Given the description of an element on the screen output the (x, y) to click on. 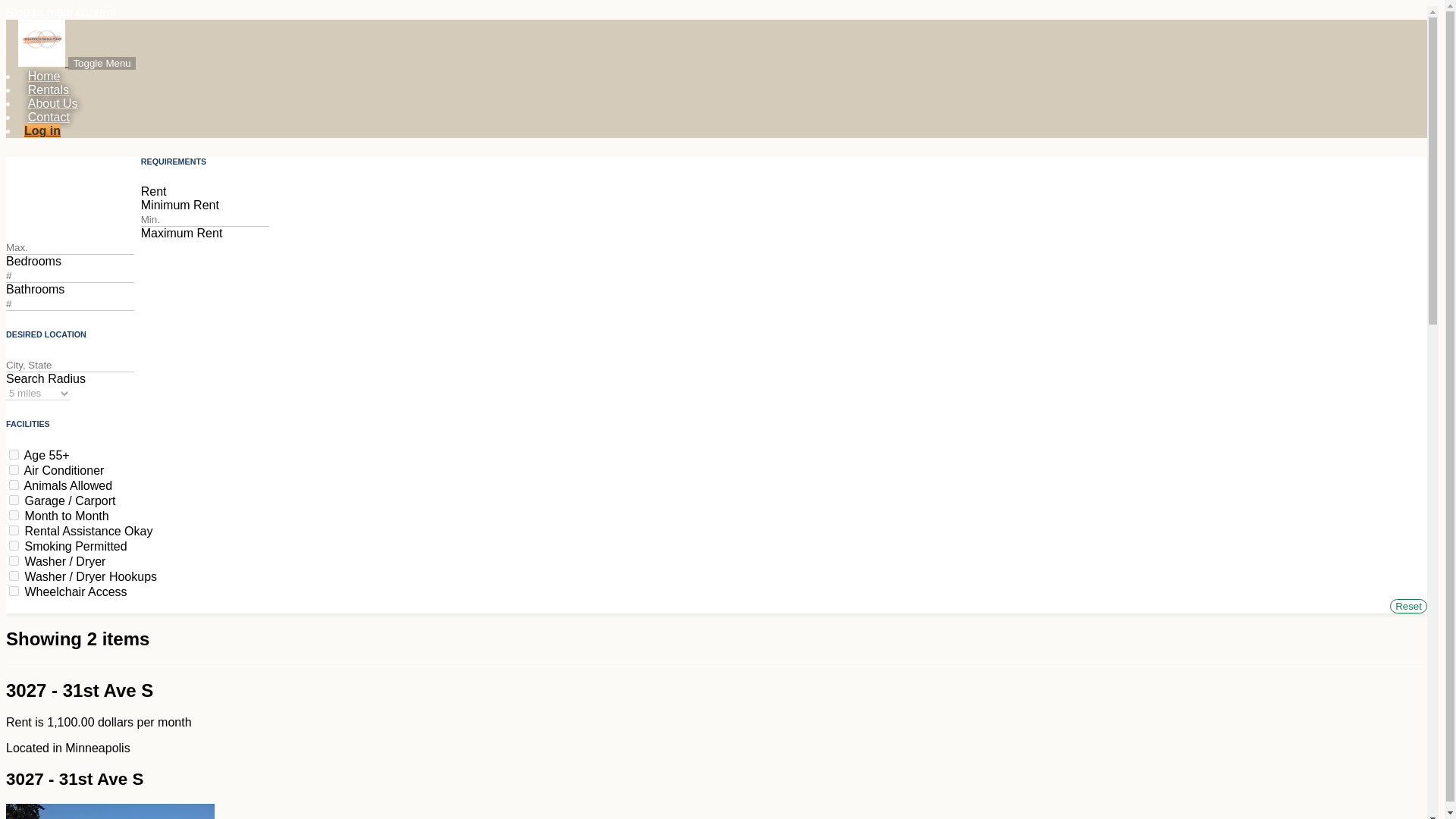
Contact (48, 116)
About Us (52, 103)
1 (13, 560)
1 Bedroom 2 (78, 215)
1 (13, 500)
1 (13, 530)
1 (13, 575)
1 (13, 470)
1 (13, 454)
1 (13, 484)
Toggle Menu (101, 62)
2 Bedrooms 0 (82, 201)
Log in (42, 130)
Home (43, 75)
1 (13, 545)
